Given the description of an element on the screen output the (x, y) to click on. 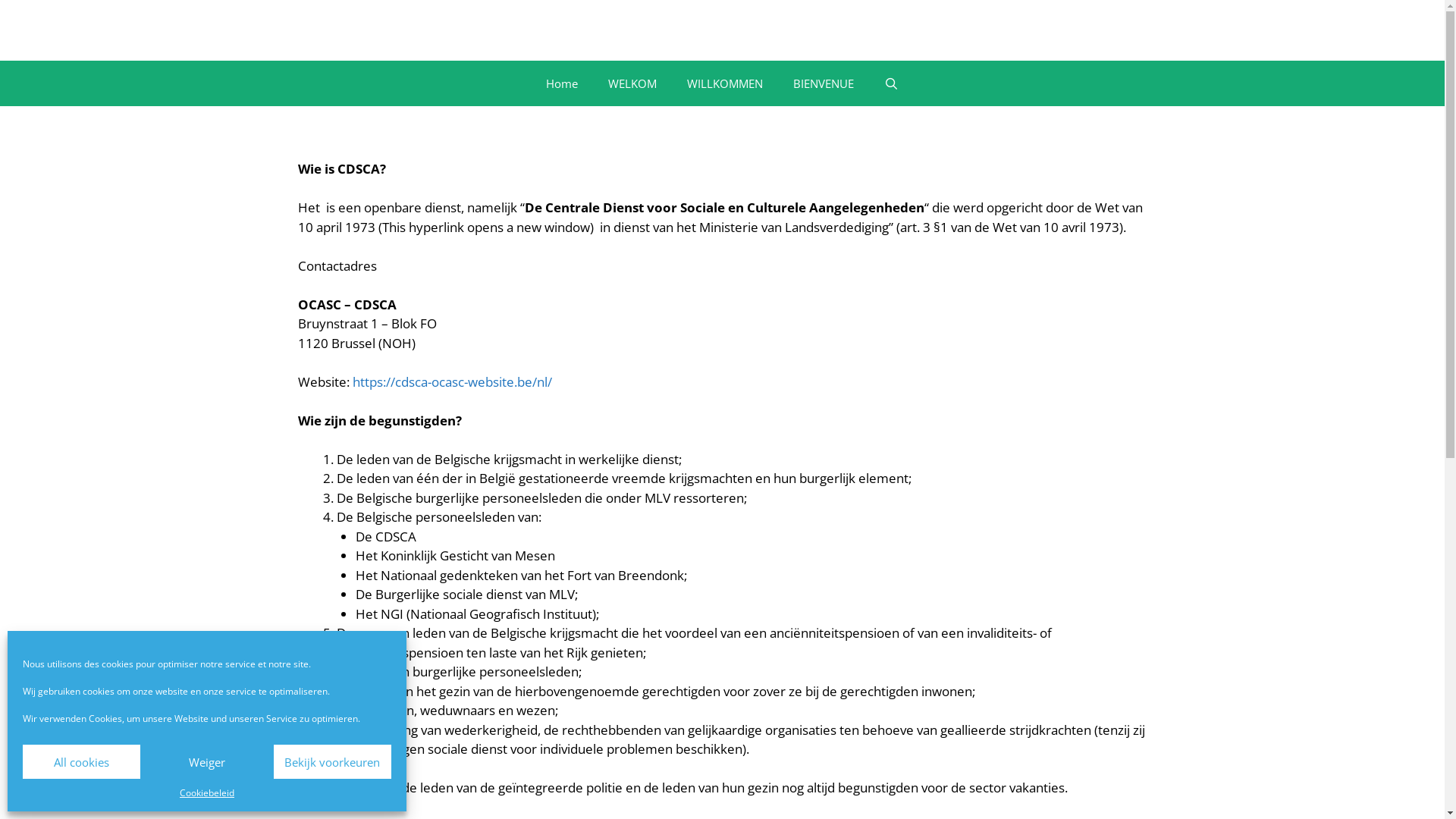
WELKOM Element type: text (632, 83)
BIENVENUE Element type: text (823, 83)
Cookiebeleid Element type: text (206, 793)
Home Element type: text (561, 83)
All cookies Element type: text (81, 761)
WILLKOMMEN Element type: text (724, 83)
https://cdsca-ocasc-website.be/nl/ Element type: text (451, 381)
Weiger Element type: text (206, 761)
Bekijk voorkeuren Element type: text (332, 761)
